Given the description of an element on the screen output the (x, y) to click on. 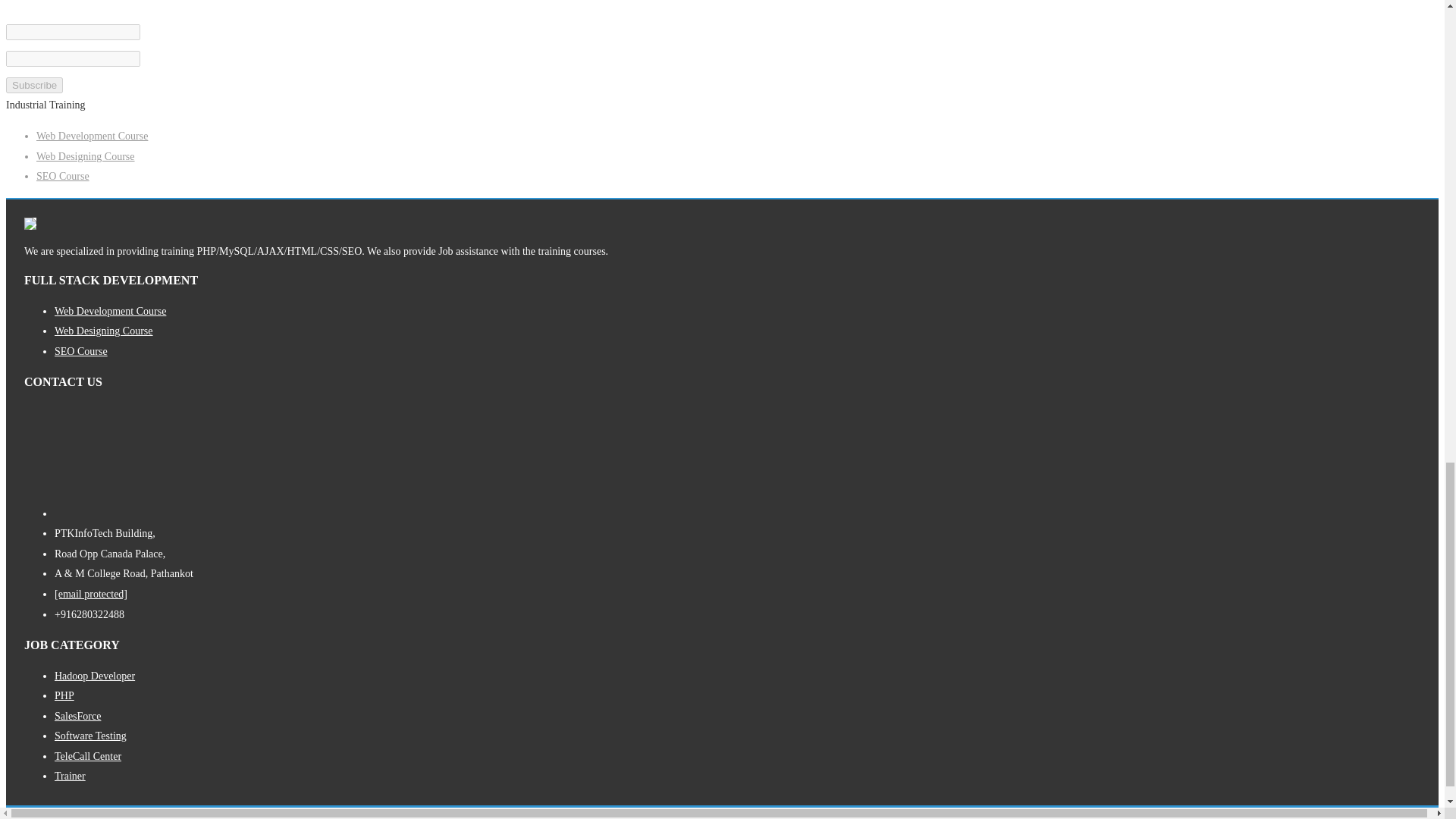
Web Designing Course (85, 156)
PHP (64, 695)
Subscribe (33, 84)
Web Designing Course (103, 330)
Hadoop Developer (95, 675)
Web Development Course (92, 135)
SEO Course (81, 351)
SEO Course (62, 175)
Subscribe (33, 84)
Web Development Course (110, 310)
